Given the description of an element on the screen output the (x, y) to click on. 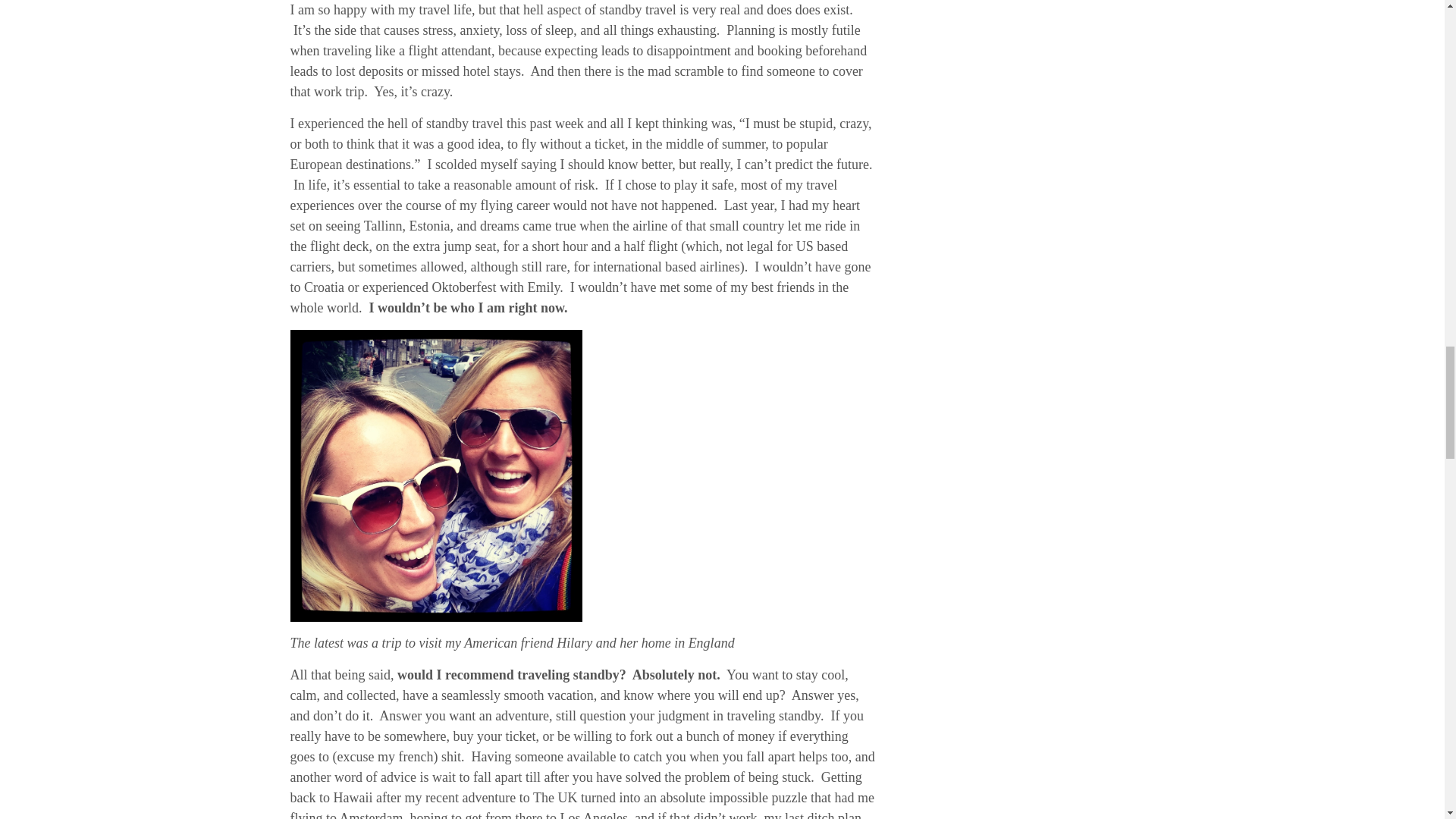
I had my heart set on seeing Tallinn, Estonia (574, 215)
